Given the description of an element on the screen output the (x, y) to click on. 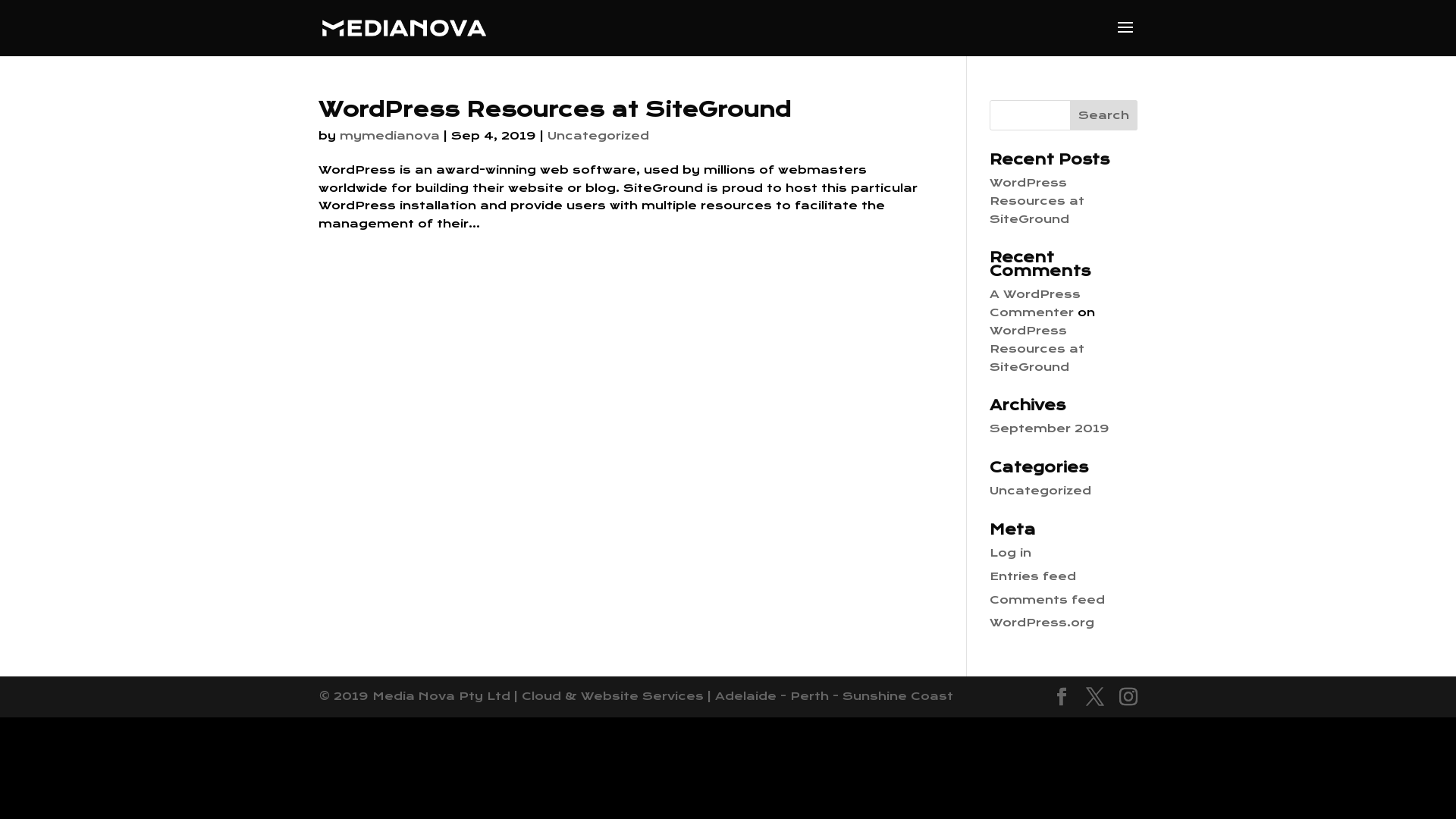
mymedianova Element type: text (389, 135)
Entries feed Element type: text (1032, 576)
Uncategorized Element type: text (598, 135)
WordPress Resources at SiteGround Element type: text (1036, 200)
Search Element type: text (1103, 115)
WordPress Resources at SiteGround Element type: text (554, 109)
Comments feed Element type: text (1046, 599)
A WordPress Commenter Element type: text (1034, 303)
Uncategorized Element type: text (1040, 490)
September 2019 Element type: text (1049, 428)
WordPress Resources at SiteGround Element type: text (1036, 348)
Log in Element type: text (1010, 552)
WordPress.org Element type: text (1041, 622)
